Given the description of an element on the screen output the (x, y) to click on. 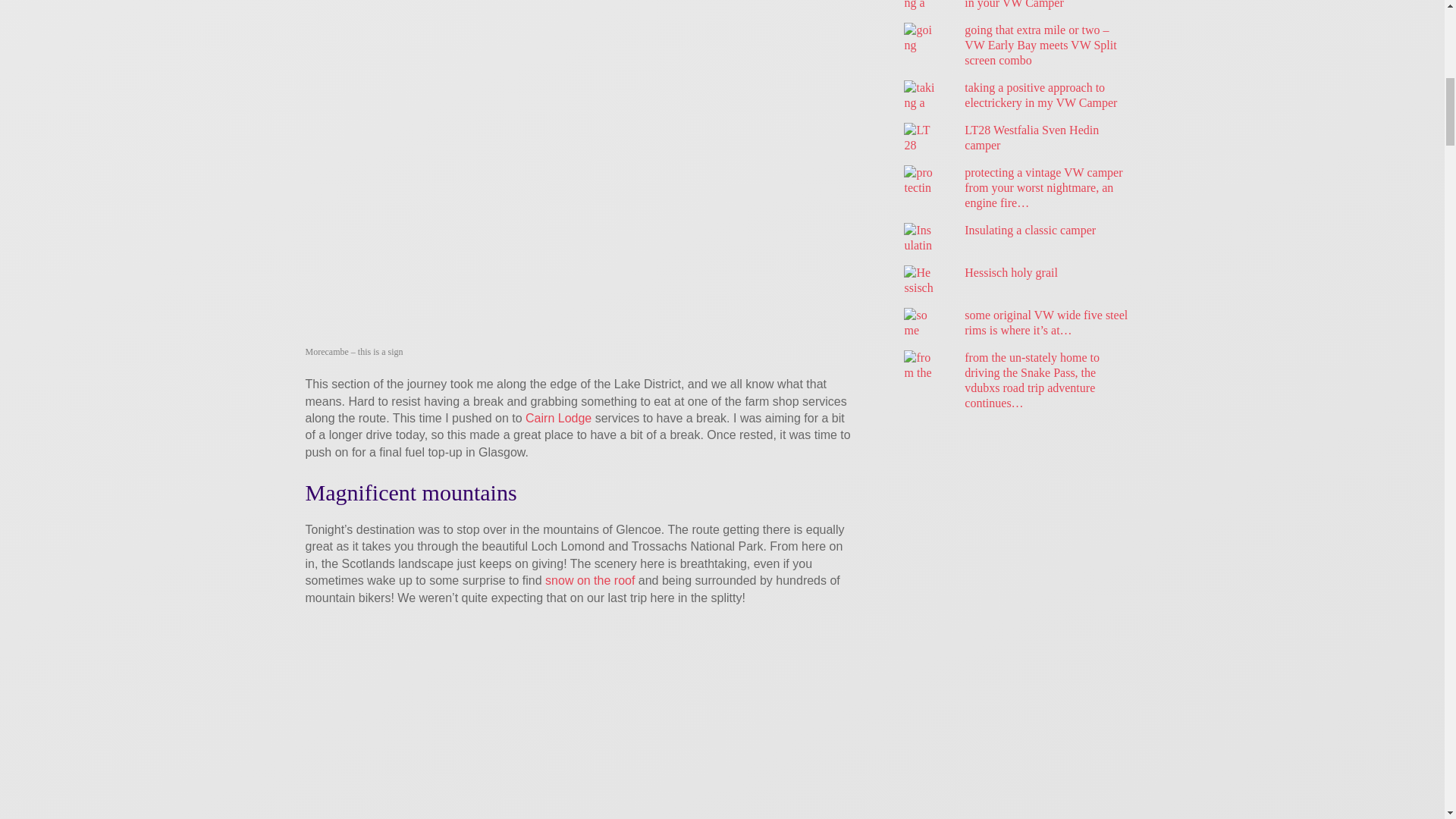
fitting a fire suppression system in your VW Camper (1041, 4)
